Given the description of an element on the screen output the (x, y) to click on. 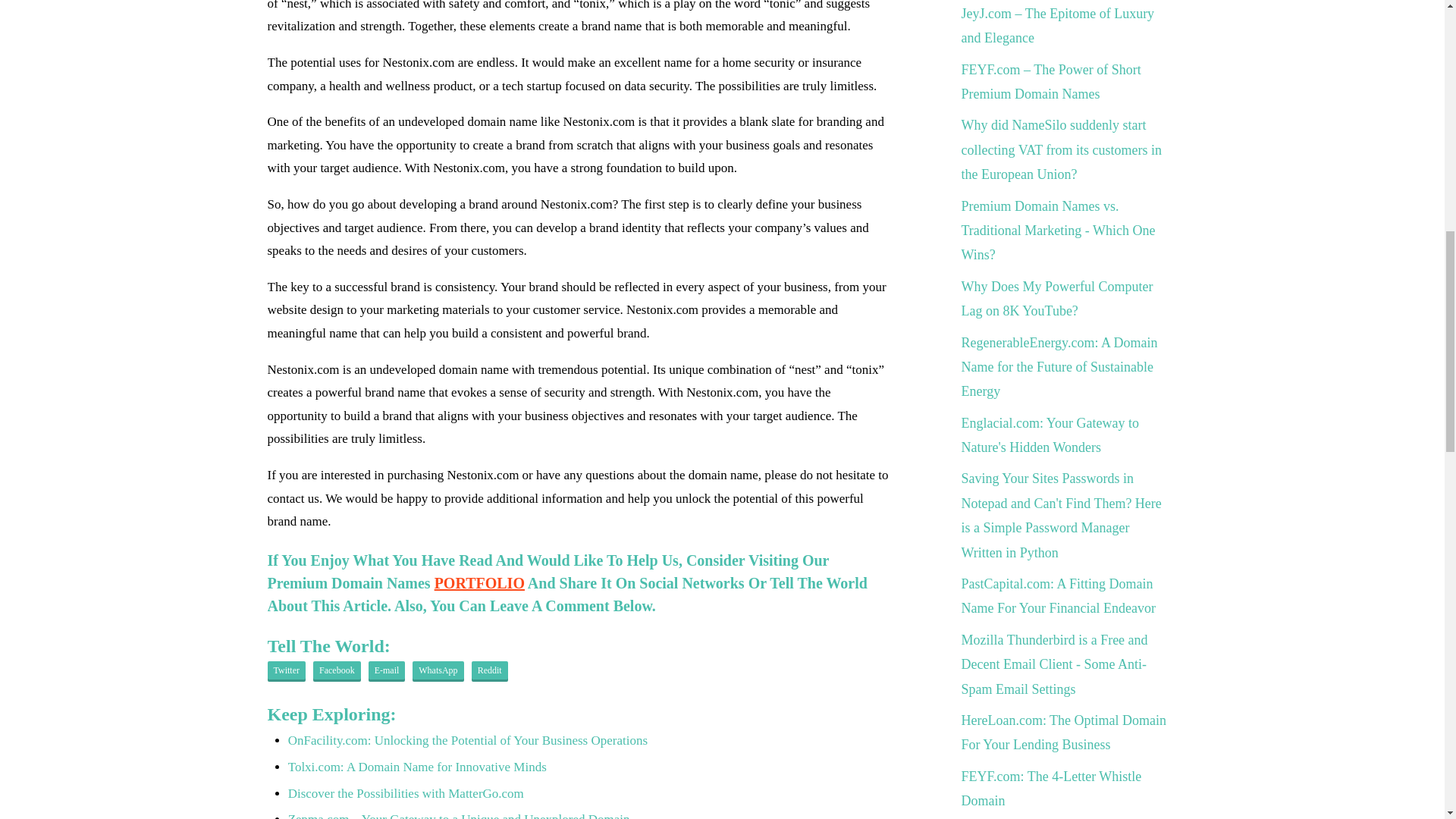
E-mail (387, 671)
Twitter (285, 671)
PORTFOLIO (478, 582)
Discover the Possibilities with MatterGo.com (406, 793)
Reddit (489, 671)
Tolxi.com: A Domain Name for Innovative Minds (417, 766)
Facebook (337, 671)
WhatsApp (437, 671)
